Given the description of an element on the screen output the (x, y) to click on. 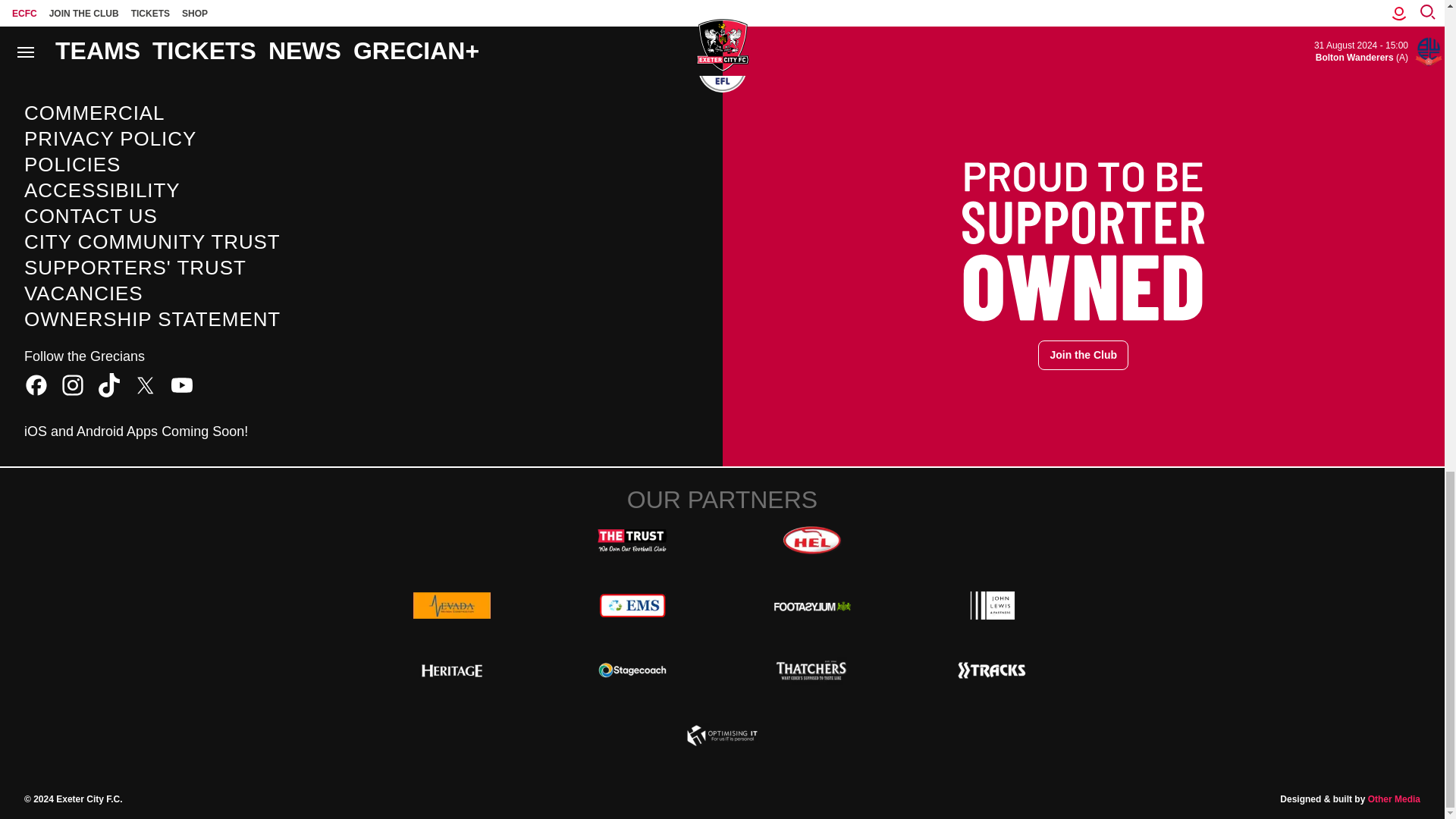
Tracks Suzuki (991, 669)
The Trust (632, 540)
TikTok icon (108, 385)
Thatchers (812, 669)
EMS (632, 604)
X Formally know as Twitter (145, 385)
Footasylum (812, 604)
Nevada Construction  (451, 604)
Heritage Developments (451, 669)
HEL (812, 540)
